Given the description of an element on the screen output the (x, y) to click on. 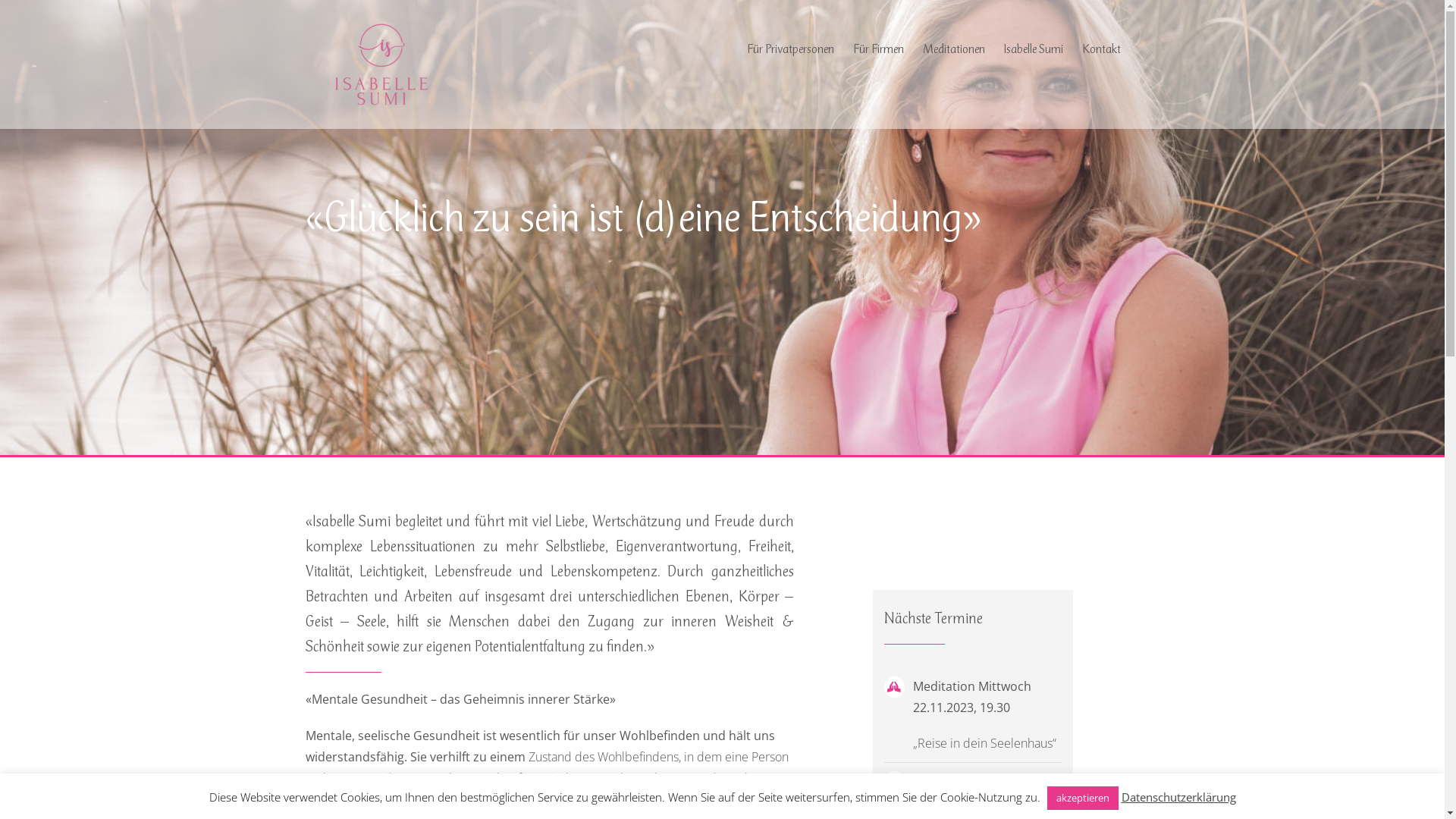
Kontakt Element type: text (1100, 48)
Meditationen Element type: text (953, 48)
akzeptieren Element type: text (1081, 797)
Isabelle Sumi Element type: text (1033, 48)
